Given the description of an element on the screen output the (x, y) to click on. 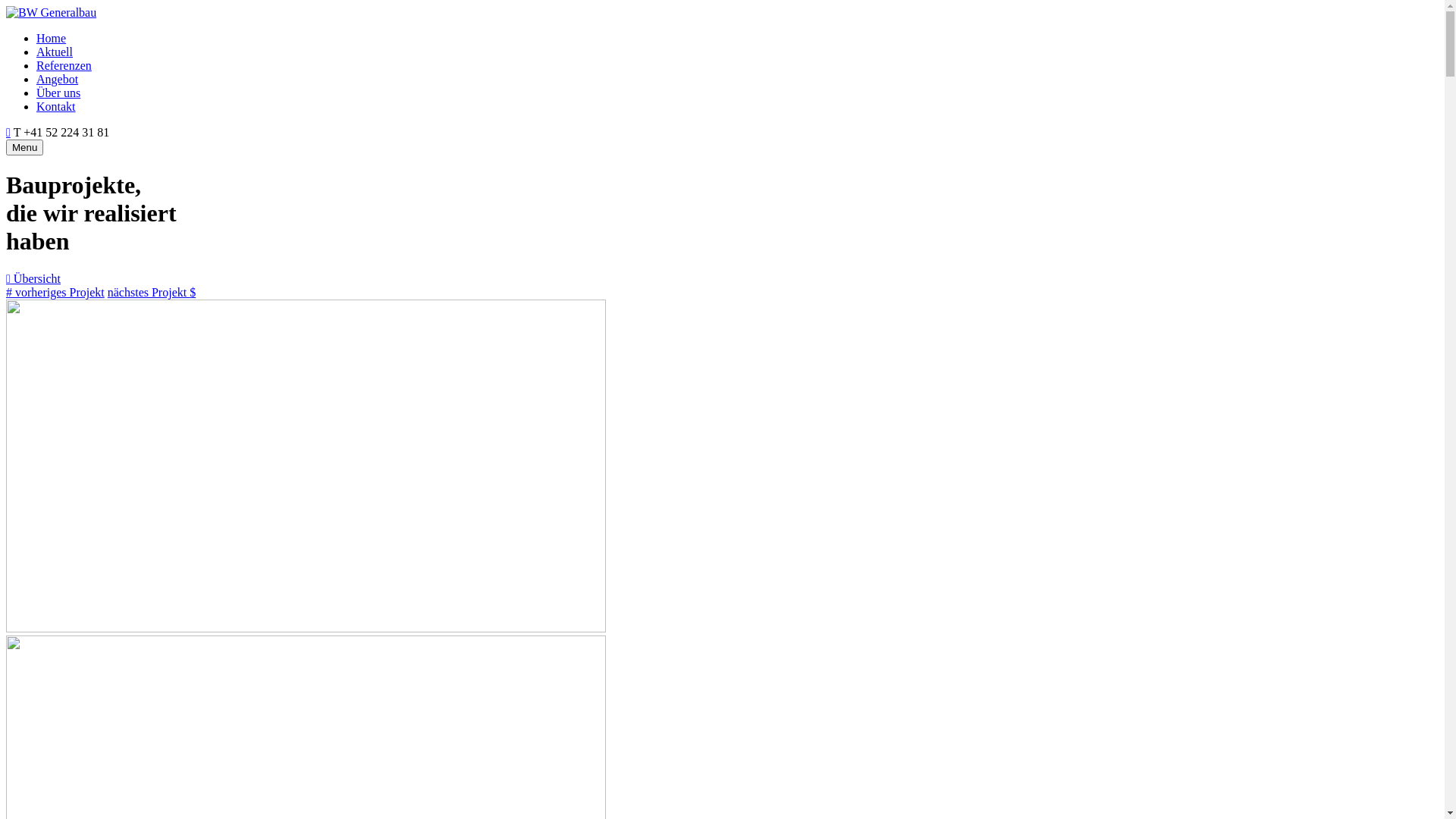
Kontakt Element type: text (55, 106)
Aktuell Element type: text (54, 51)
Referenzen Element type: text (63, 65)
Home Element type: text (50, 37)
Menu Element type: text (24, 147)
vorheriges Projekt Element type: text (55, 291)
Angebot Element type: text (57, 78)
